Given the description of an element on the screen output the (x, y) to click on. 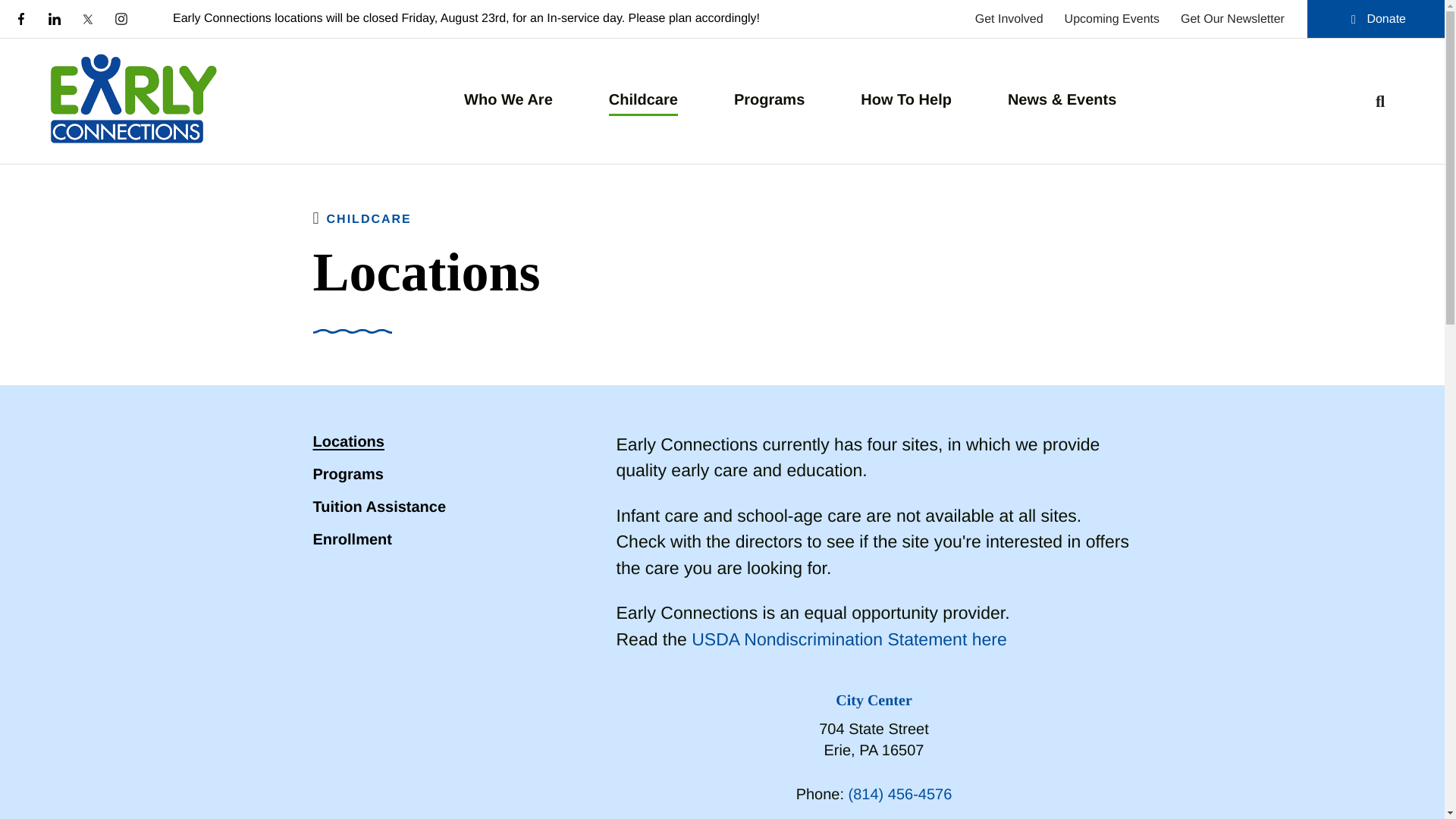
Get Our Newsletter (1232, 18)
Get Involved (1009, 18)
logo (132, 101)
Upcoming Events (1111, 18)
Childcare (643, 99)
Who We Are (508, 99)
Programs (769, 99)
